Given the description of an element on the screen output the (x, y) to click on. 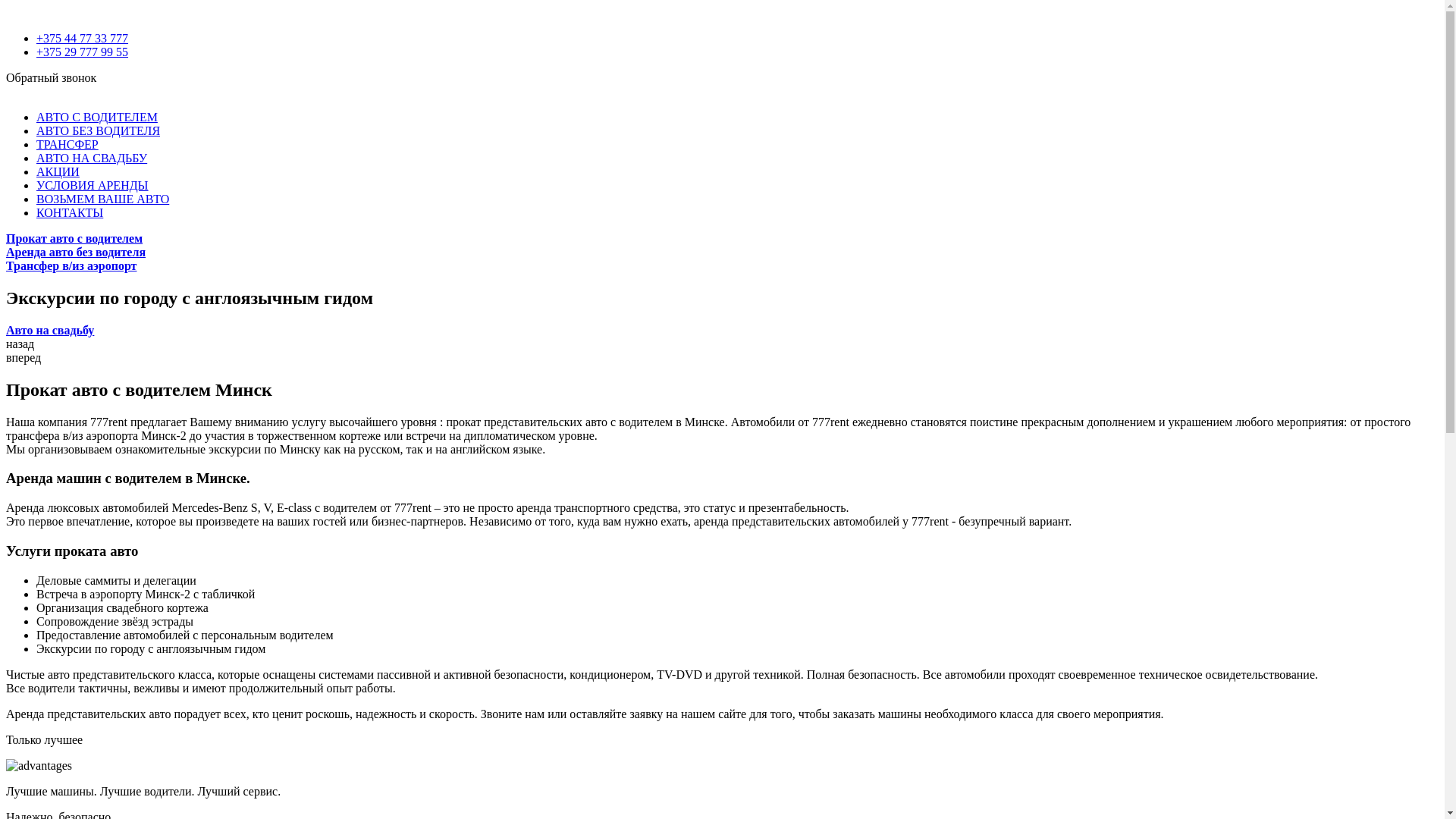
+375 44 77 33 777 Element type: text (82, 37)
+375 29 777 99 55 Element type: text (82, 51)
